Given the description of an element on the screen output the (x, y) to click on. 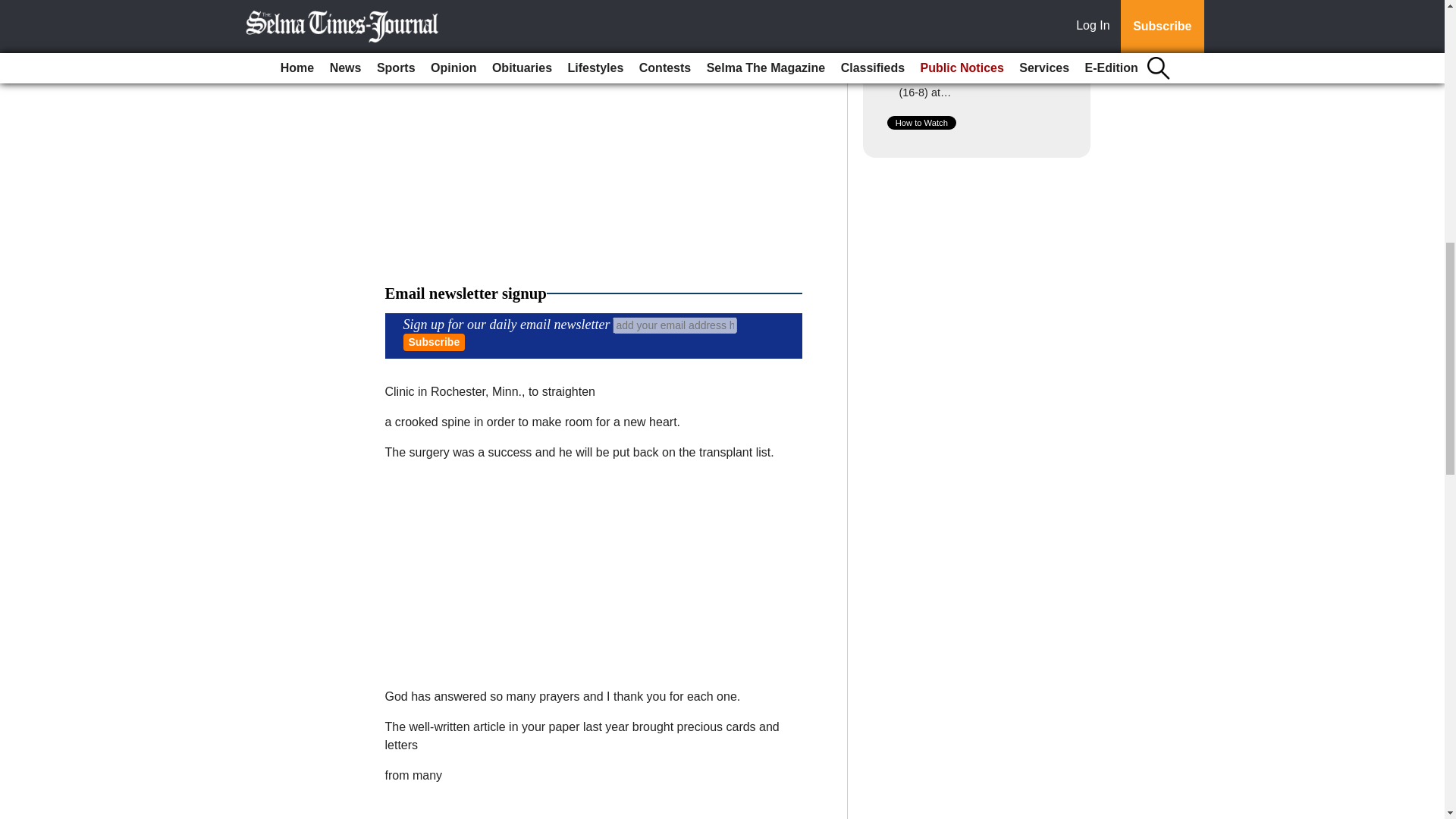
Subscribe (434, 342)
Subscribe (434, 342)
How to Watch (921, 122)
